Given the description of an element on the screen output the (x, y) to click on. 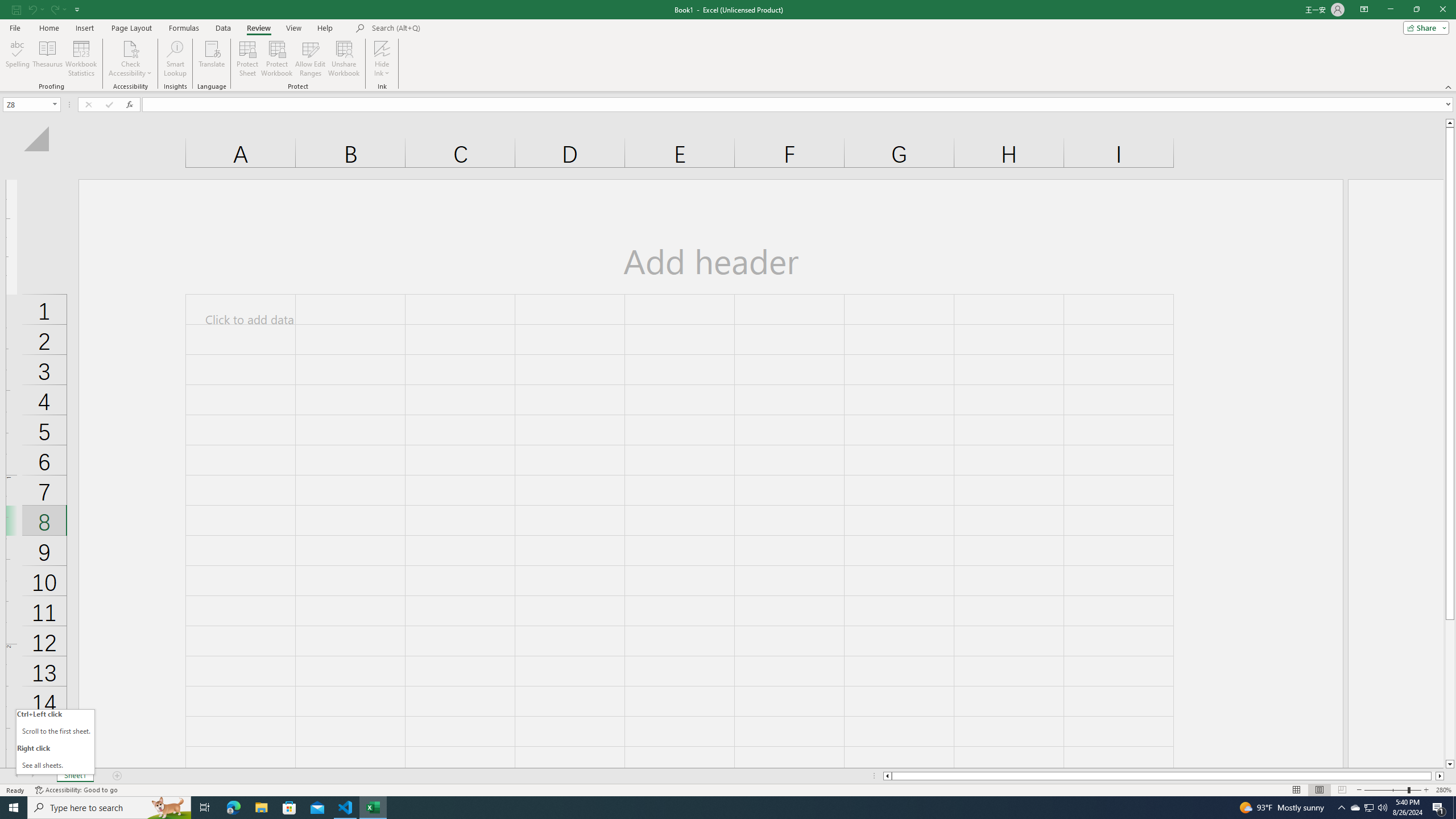
Close (1442, 9)
Protect Workbook... (277, 58)
Add Sheet (117, 775)
More Options (381, 68)
Allow Edit Ranges (310, 58)
Collapse the Ribbon (1448, 86)
Page Break Preview (1342, 790)
Hide Ink (381, 48)
Spelling... (17, 58)
View (293, 28)
Sheet1 (74, 775)
Redo (57, 9)
Microsoft search (450, 28)
Class: NetUIScrollBar (1163, 775)
Help (325, 28)
